Given the description of an element on the screen output the (x, y) to click on. 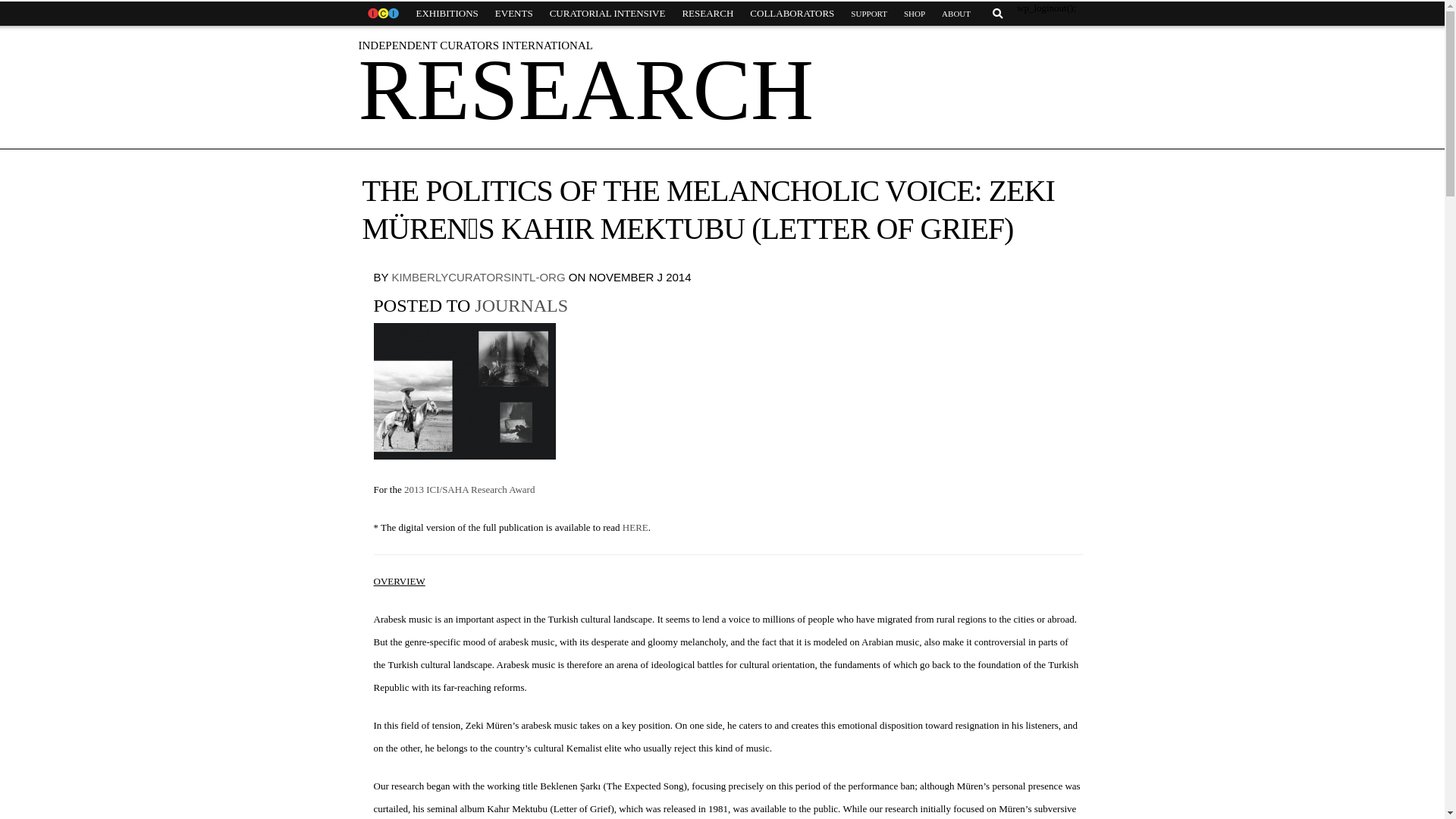
HOME (382, 13)
EXHIBITIONS (446, 13)
RESEARCH (706, 13)
COLLABORATORS (792, 13)
CURATORIAL INTENSIVE (607, 13)
EVENTS (513, 13)
